Given the description of an element on the screen output the (x, y) to click on. 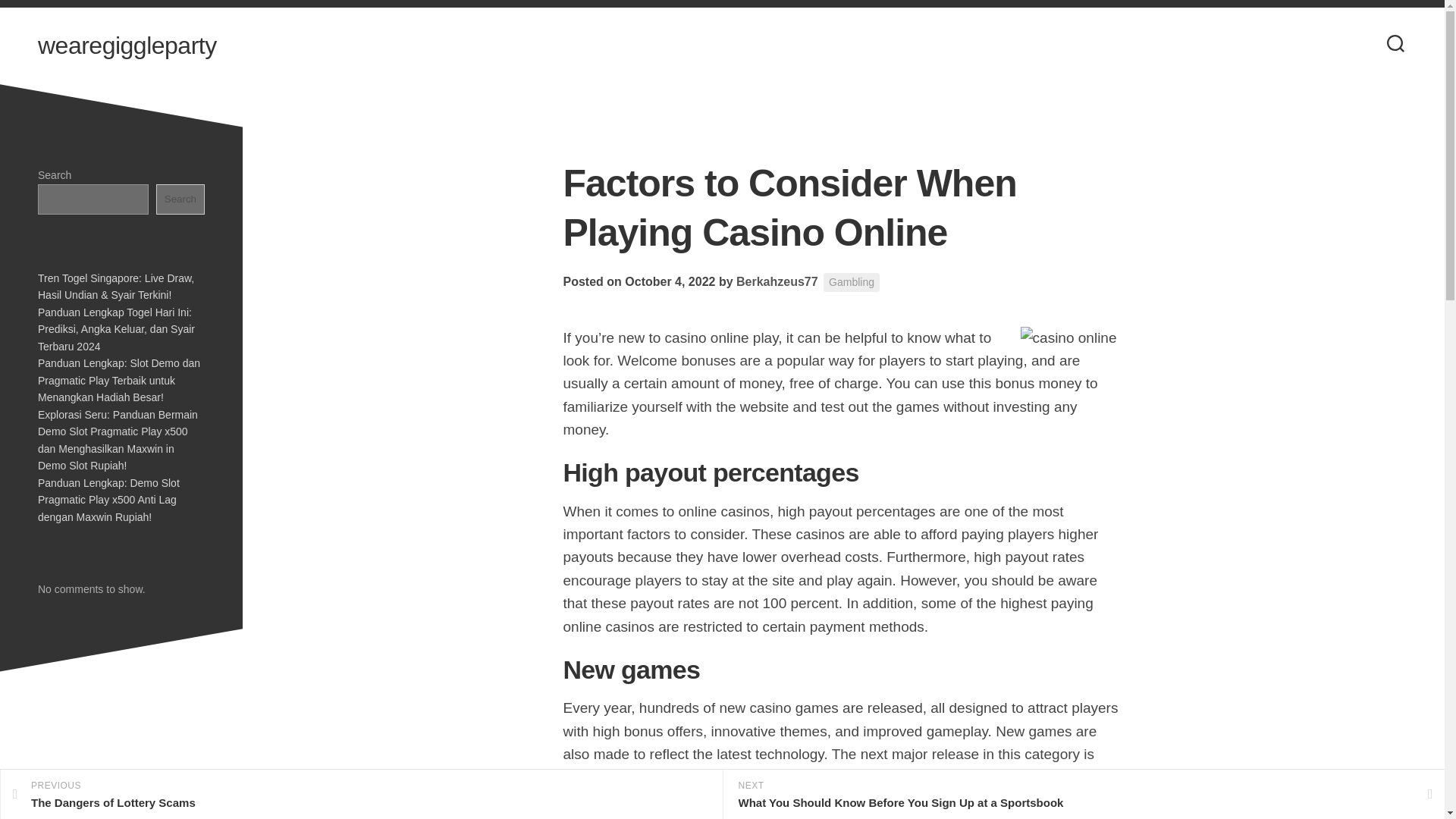
Berkahzeus77 (777, 281)
Search (180, 198)
wearegiggleparty (126, 44)
Gambling (361, 794)
Posts by Berkahzeus77 (851, 281)
